Given the description of an element on the screen output the (x, y) to click on. 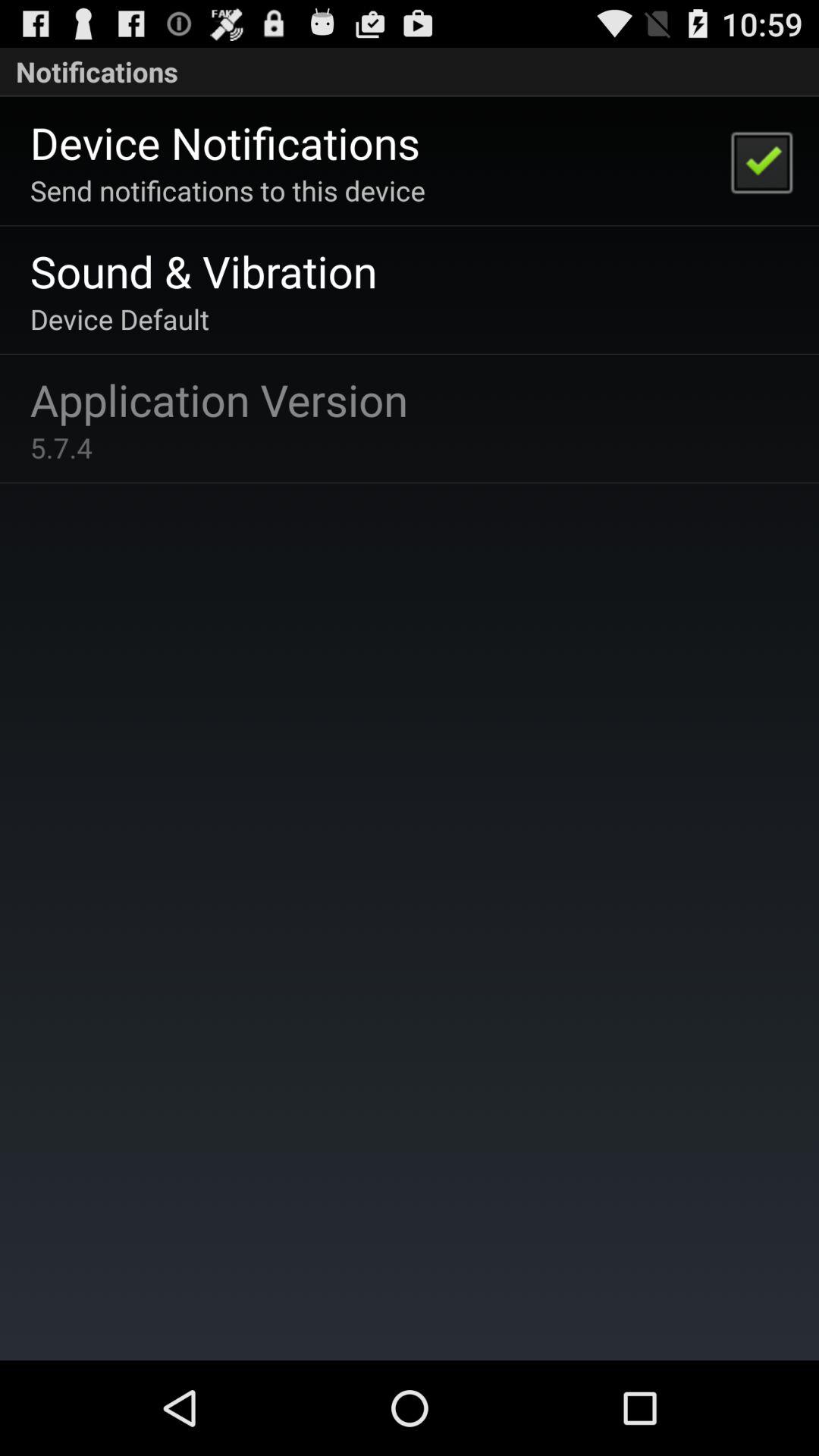
scroll until device default icon (119, 318)
